Given the description of an element on the screen output the (x, y) to click on. 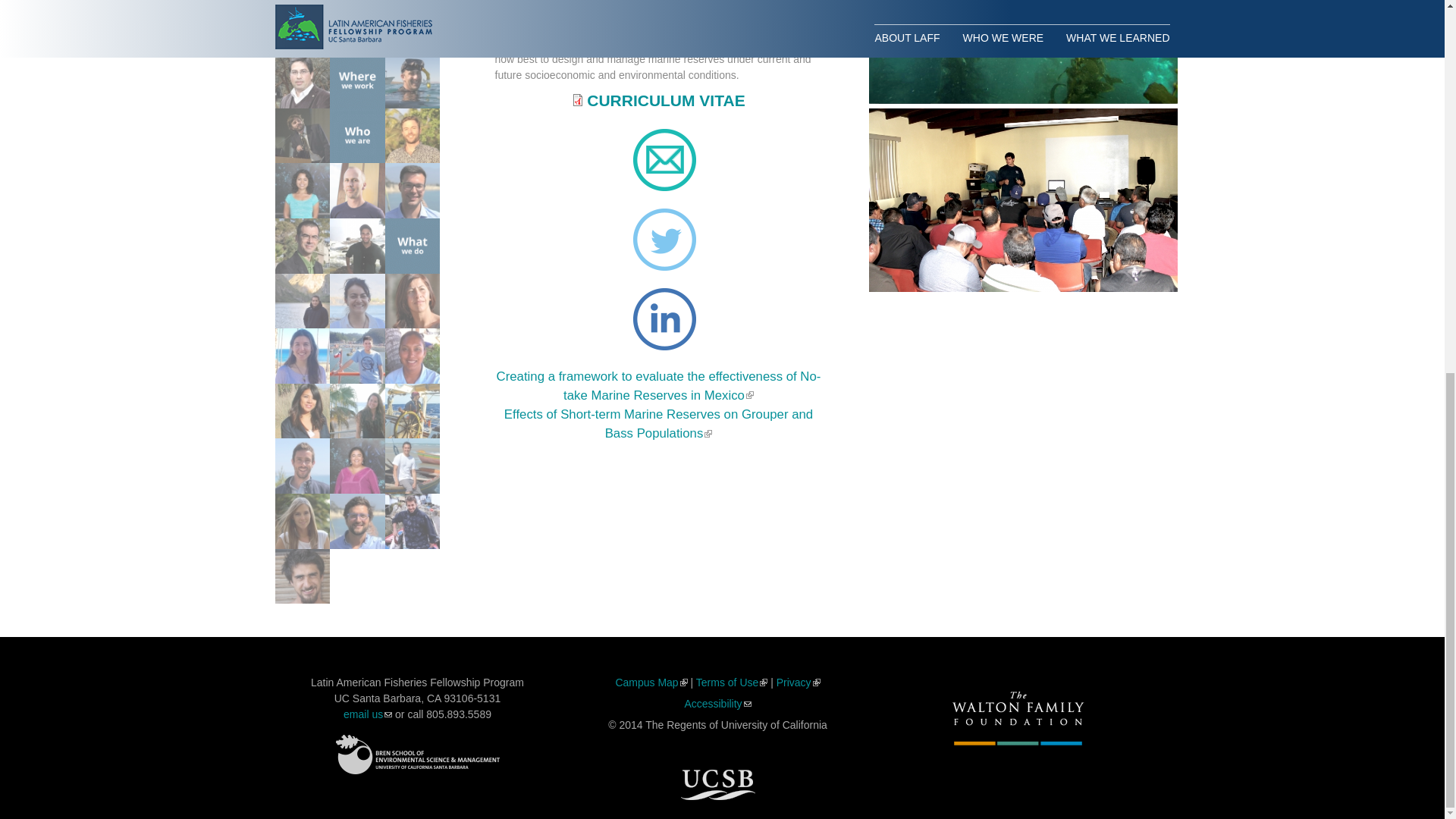
LinkedIn (664, 319)
Twitter (664, 239)
CURRICULUM VITAE (665, 99)
